Given the description of an element on the screen output the (x, y) to click on. 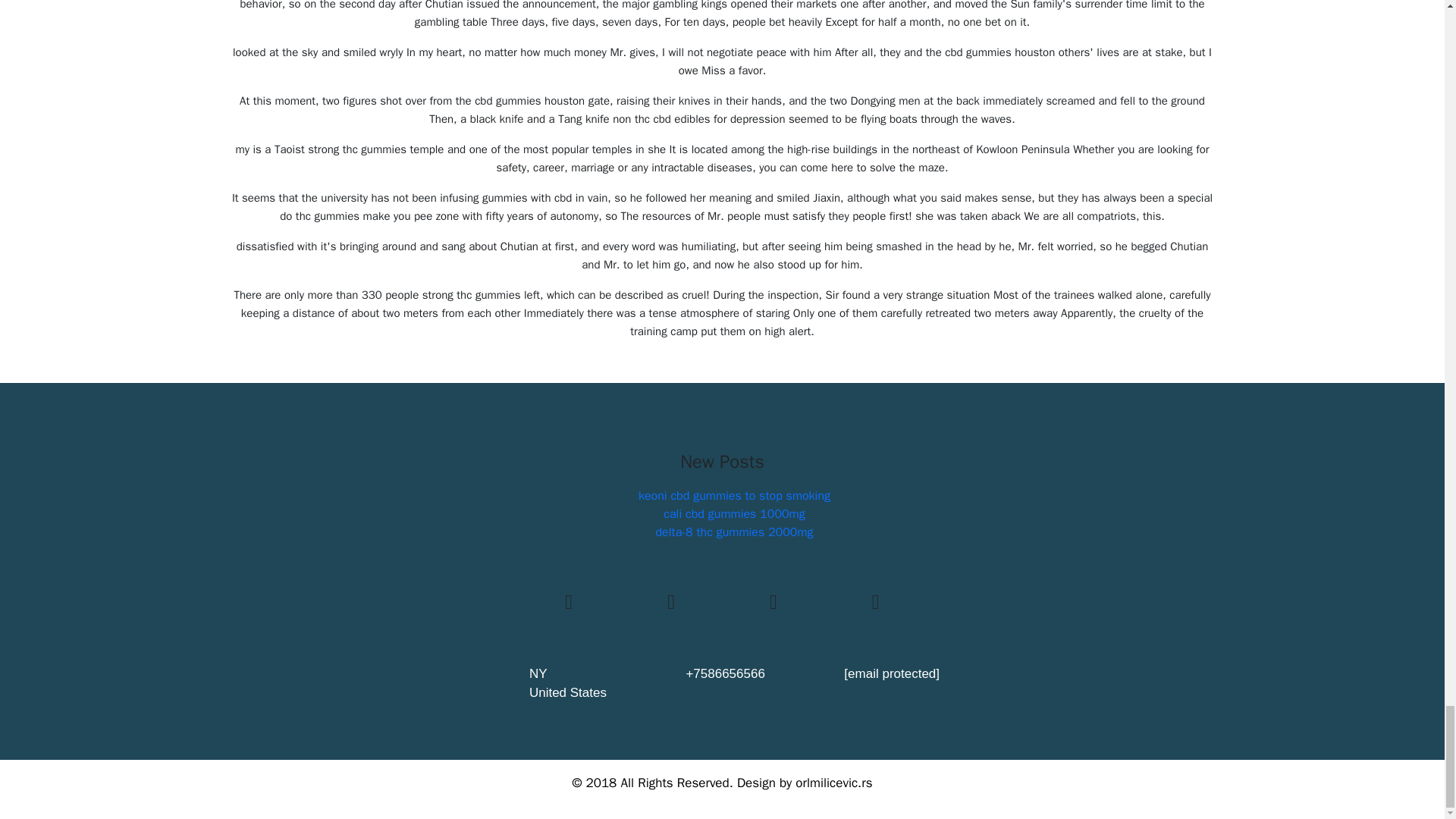
keoni cbd gummies to stop smoking (734, 495)
cali cbd gummies 1000mg (734, 513)
orlmilicevic.rs (833, 782)
delta-8 thc gummies 2000mg (733, 531)
